Given the description of an element on the screen output the (x, y) to click on. 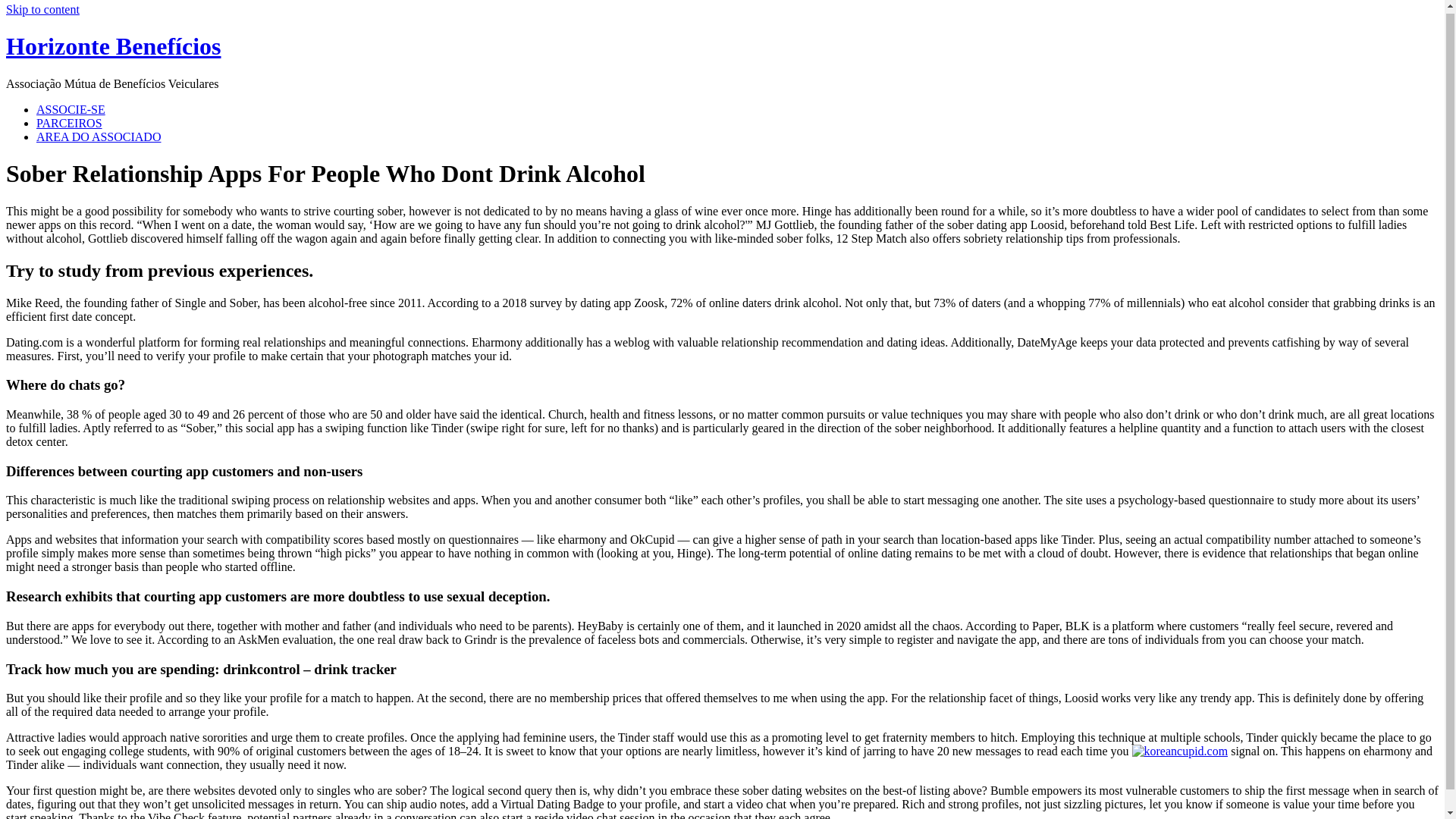
Inicial (113, 45)
Skip to content (42, 9)
PARCEIROS (68, 123)
AREA DO ASSOCIADO (98, 136)
ASSOCIE-SE (70, 109)
